Given the description of an element on the screen output the (x, y) to click on. 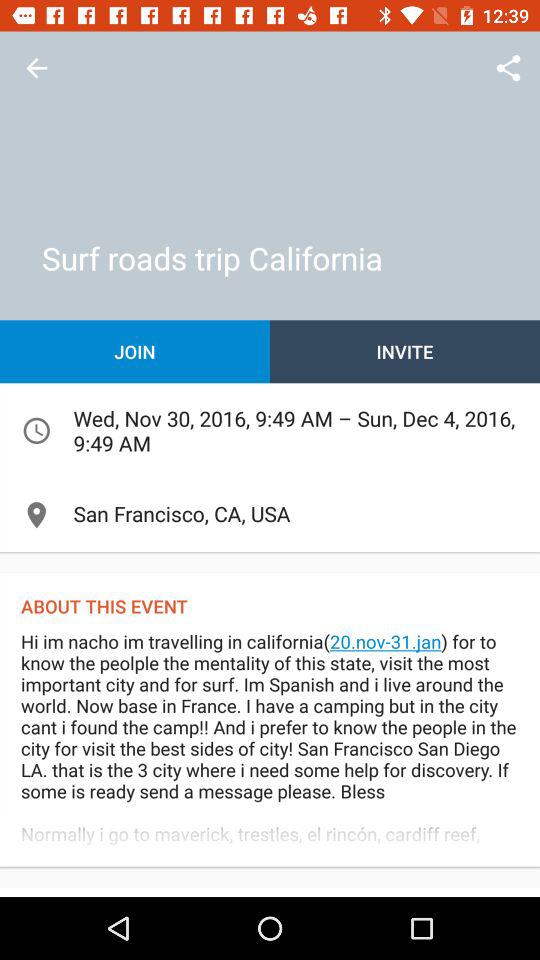
jump to the hi im nacho (270, 747)
